Given the description of an element on the screen output the (x, y) to click on. 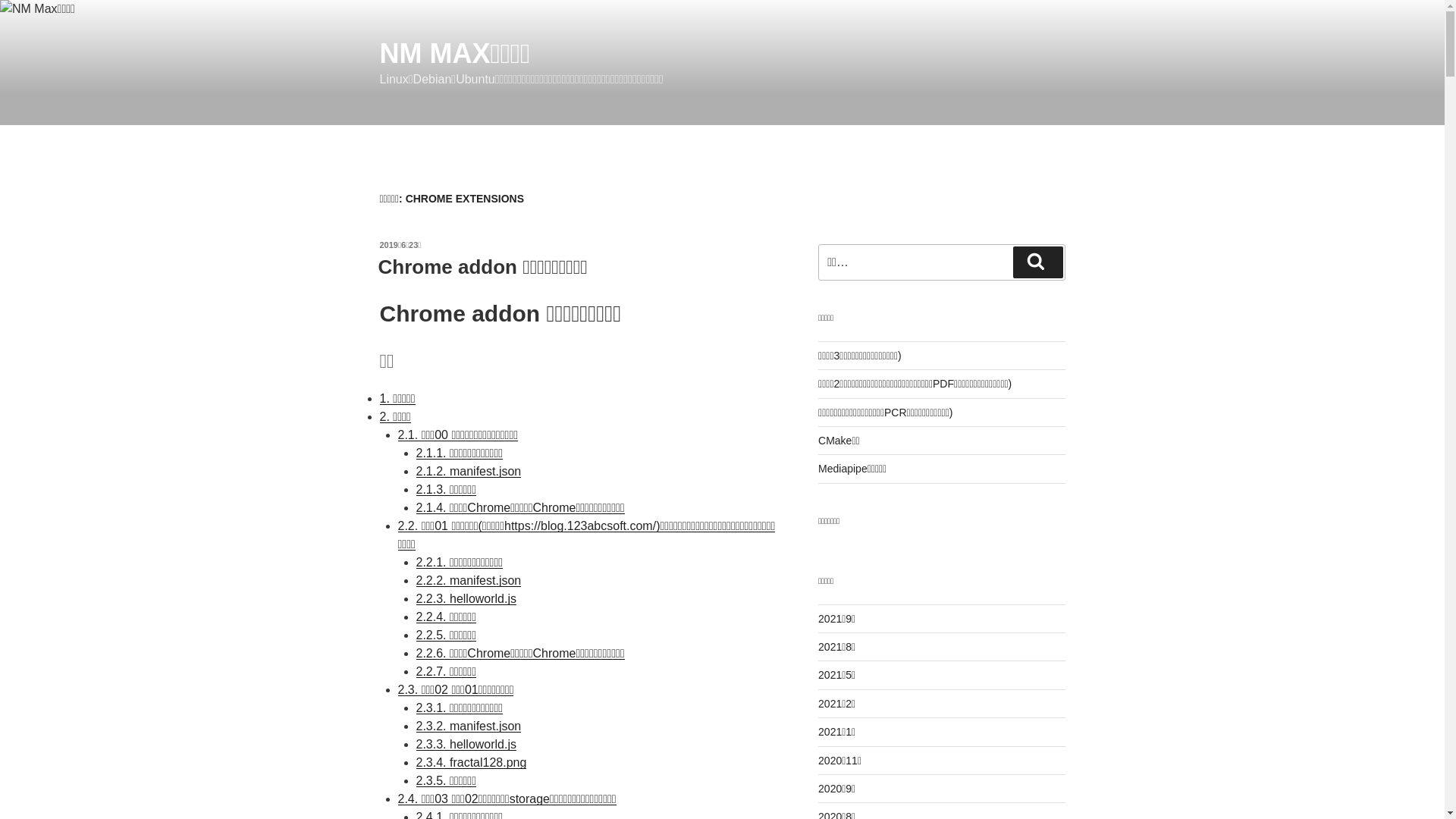
2.3.4. fractal128.png Element type: text (470, 762)
2.2.3. helloworld.js Element type: text (465, 598)
2.3.2. manifest.json Element type: text (467, 725)
2.3.3. helloworld.js Element type: text (465, 743)
2.1.2. manifest.json Element type: text (467, 470)
2.2.2. manifest.json Element type: text (467, 580)
